Given the description of an element on the screen output the (x, y) to click on. 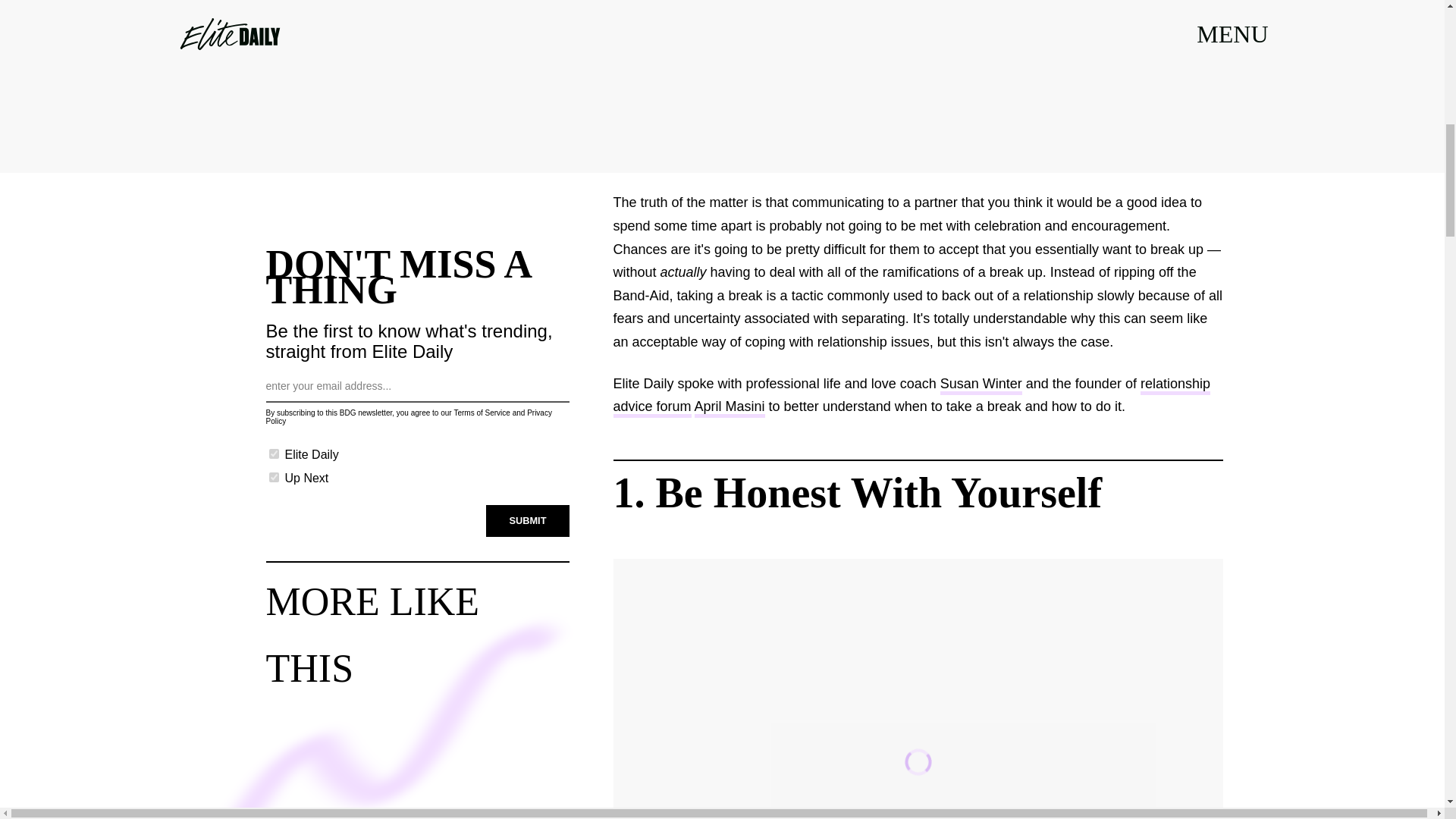
April Masini (729, 407)
SUBMIT (527, 521)
Susan Winter (981, 384)
relationship advice forum (910, 396)
Terms of Service (480, 412)
Privacy Policy (407, 416)
